Given the description of an element on the screen output the (x, y) to click on. 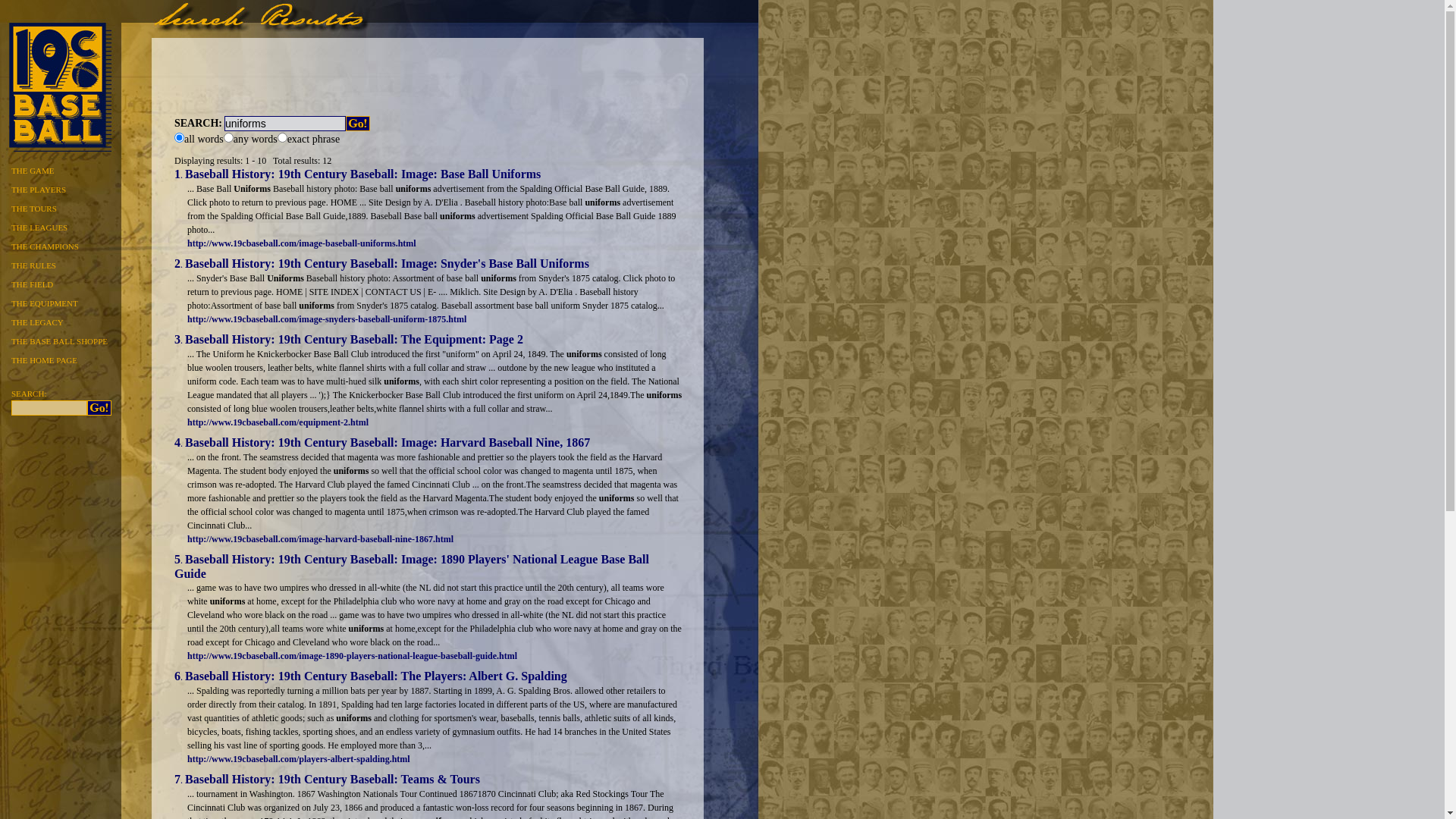
THE CHAMPIONS Element type: text (56, 244)
THE TOURS Element type: text (56, 206)
THE GAME Element type: text (56, 168)
THE FIELD Element type: text (56, 282)
THE EQUIPMENT Element type: text (56, 301)
THE RULES Element type: text (56, 263)
Baseball History: 19th Century Baseball: Teams & Tours Element type: text (332, 780)
THE LEAGUES Element type: text (56, 225)
Advertisement Element type: hover (427, 71)
THE BASE BALL SHOPPE Element type: text (56, 339)
THE LEGACY Element type: text (56, 320)
THE PLAYERS Element type: text (56, 187)
THE HOME PAGE Element type: text (56, 358)
